Given the description of an element on the screen output the (x, y) to click on. 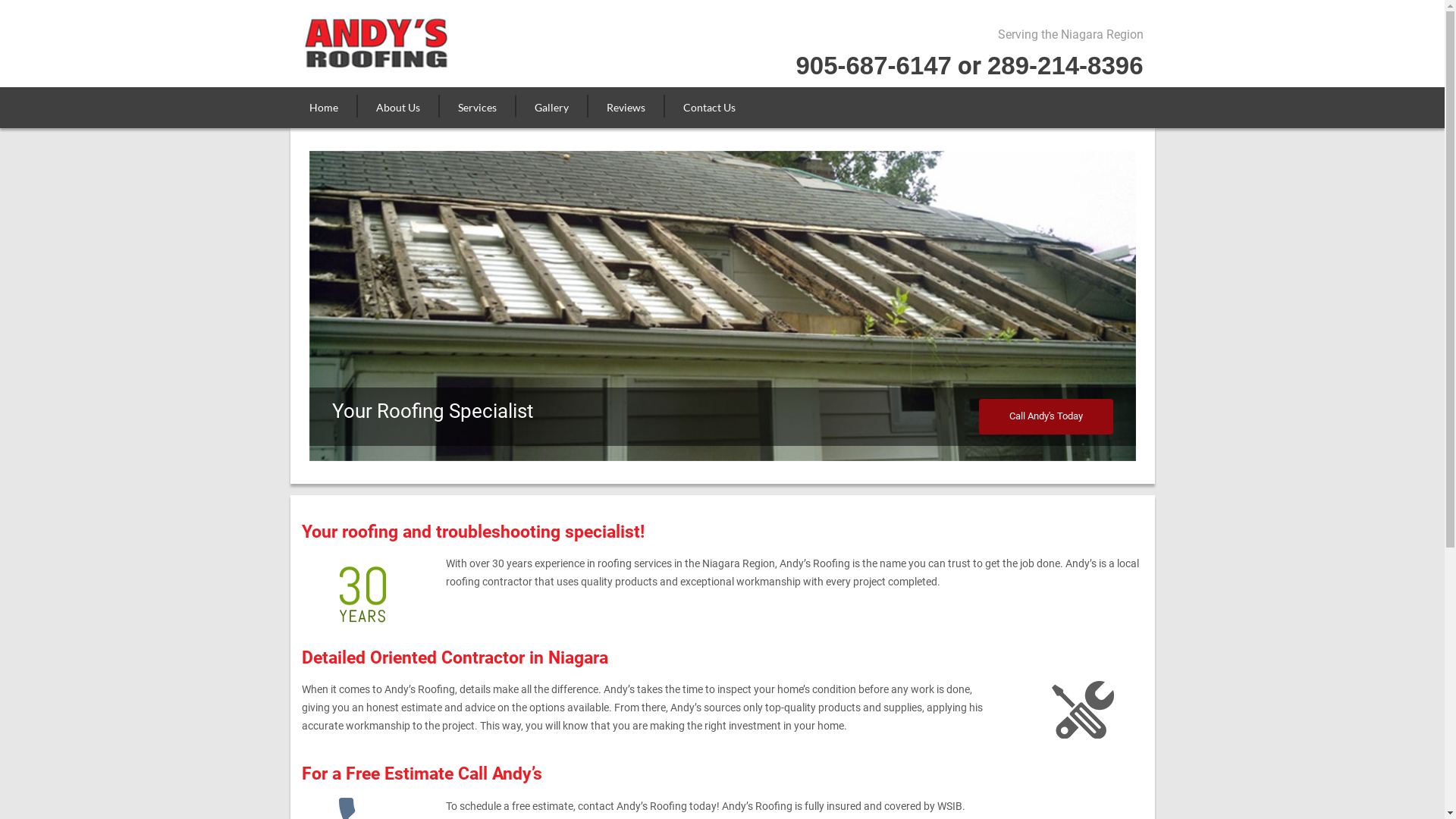
Call Andy's Today Element type: text (1045, 416)
Contact Us Element type: text (709, 107)
Home Element type: text (329, 107)
289-214-8396 Element type: text (1065, 65)
About Us Element type: text (397, 107)
905-687-6147 Element type: text (873, 65)
Reviews Element type: text (624, 107)
Services Element type: text (476, 107)
Gallery Element type: text (551, 107)
